Given the description of an element on the screen output the (x, y) to click on. 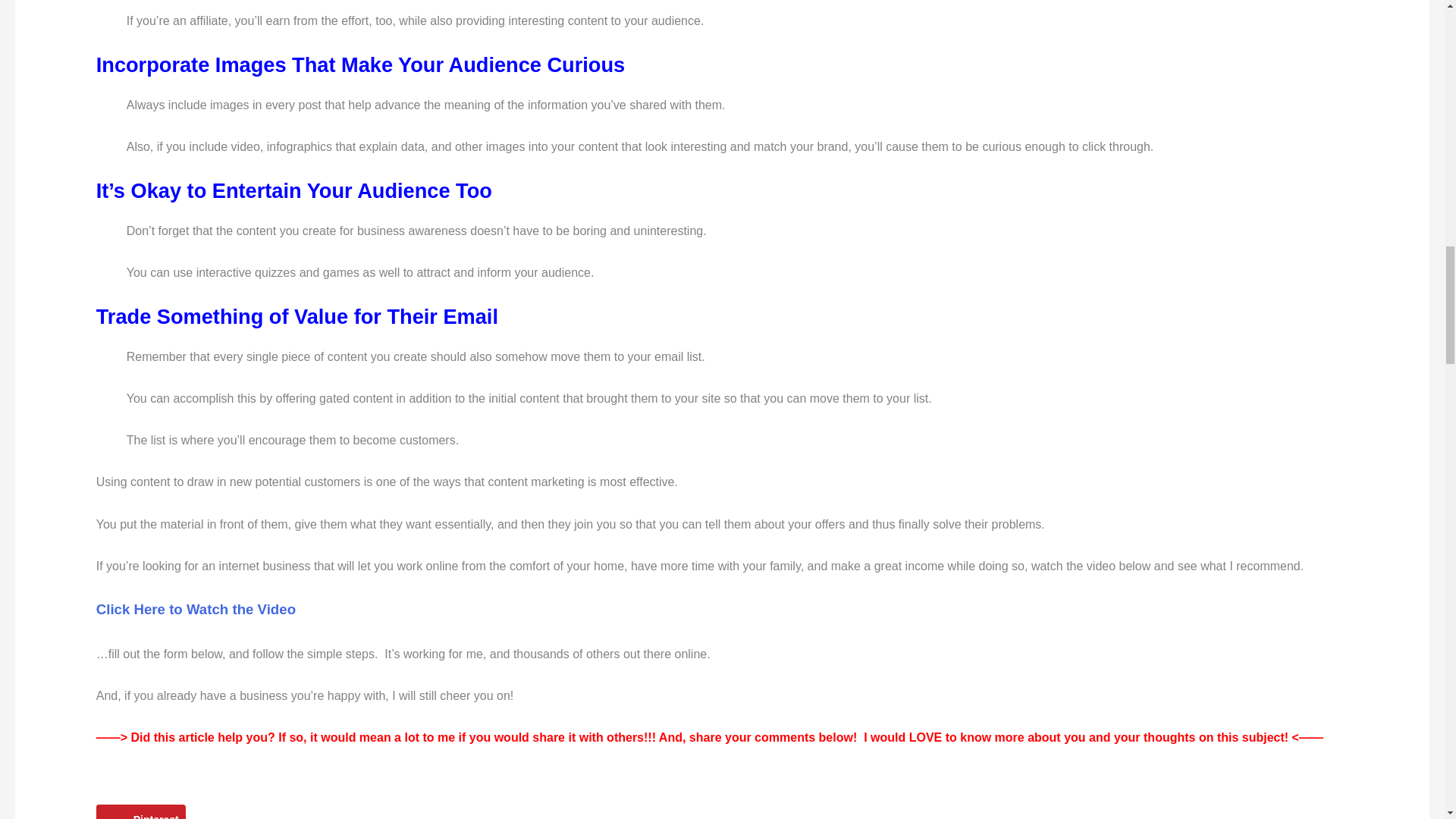
Click Here to Watch the Video (195, 609)
Save to Pinterest (141, 811)
Pinterest (141, 811)
